Given the description of an element on the screen output the (x, y) to click on. 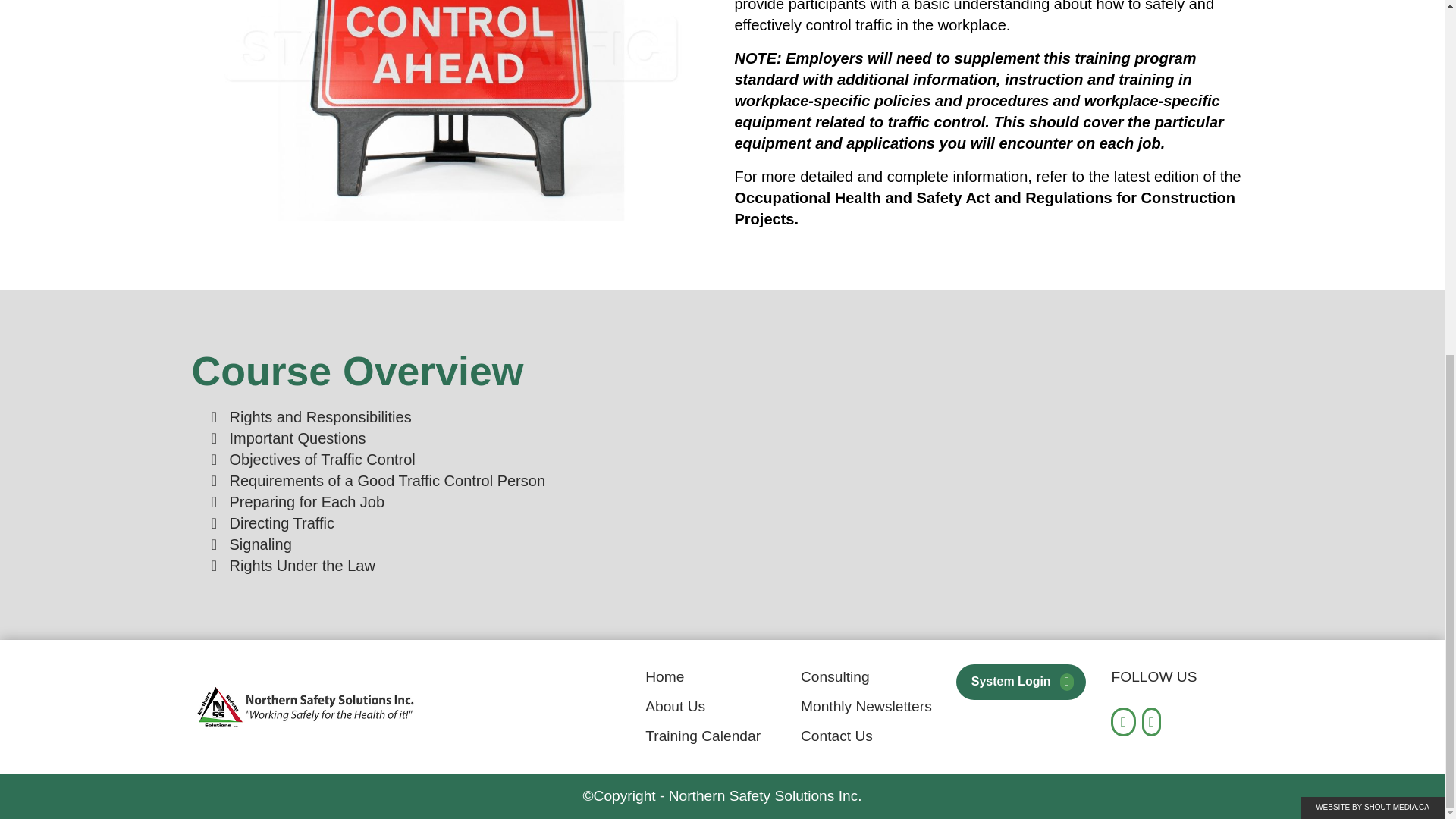
Contact Us (836, 735)
Consulting (834, 676)
About Us (674, 706)
Monthly Newsletters (865, 706)
Northern Safety Solutions Inc. (304, 707)
Training Calendar (702, 735)
Home (664, 676)
System Login (1011, 681)
